Given the description of an element on the screen output the (x, y) to click on. 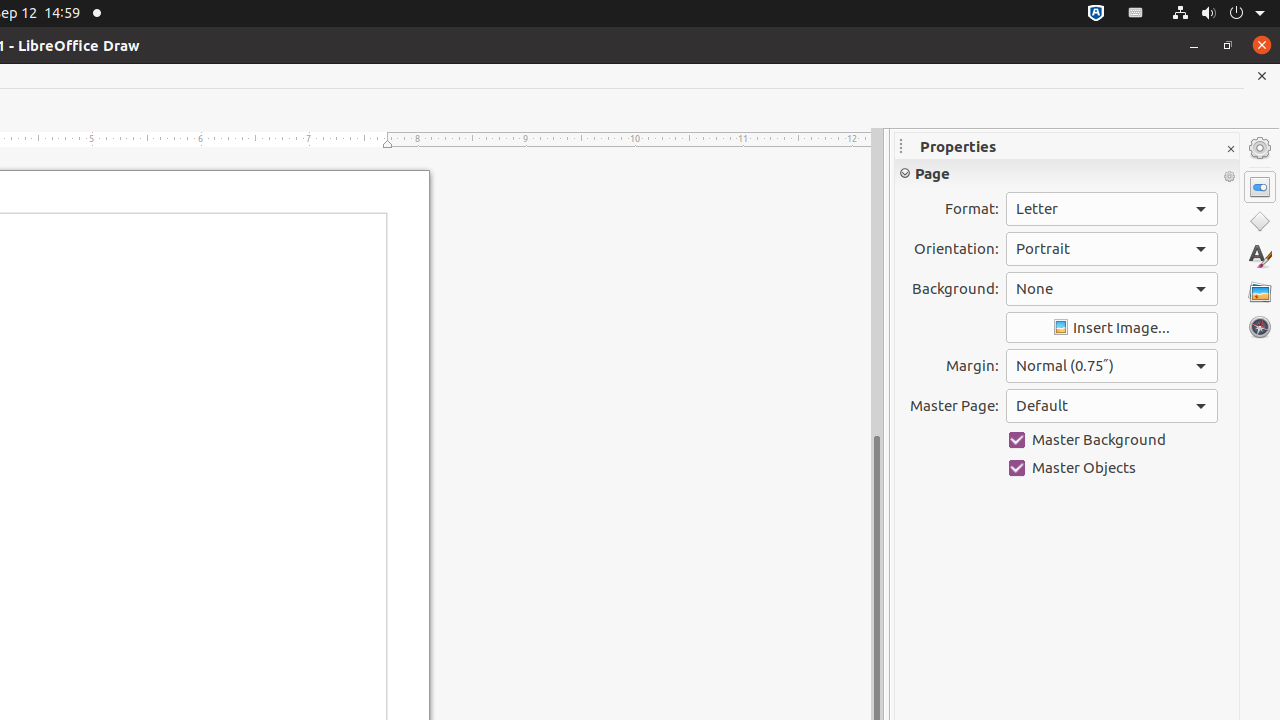
Master Background Element type: check-box (1112, 440)
Format: Element type: combo-box (1112, 209)
Properties Element type: radio-button (1260, 187)
More Options Element type: push-button (1229, 177)
Insert Image Element type: push-button (1112, 327)
